Given the description of an element on the screen output the (x, y) to click on. 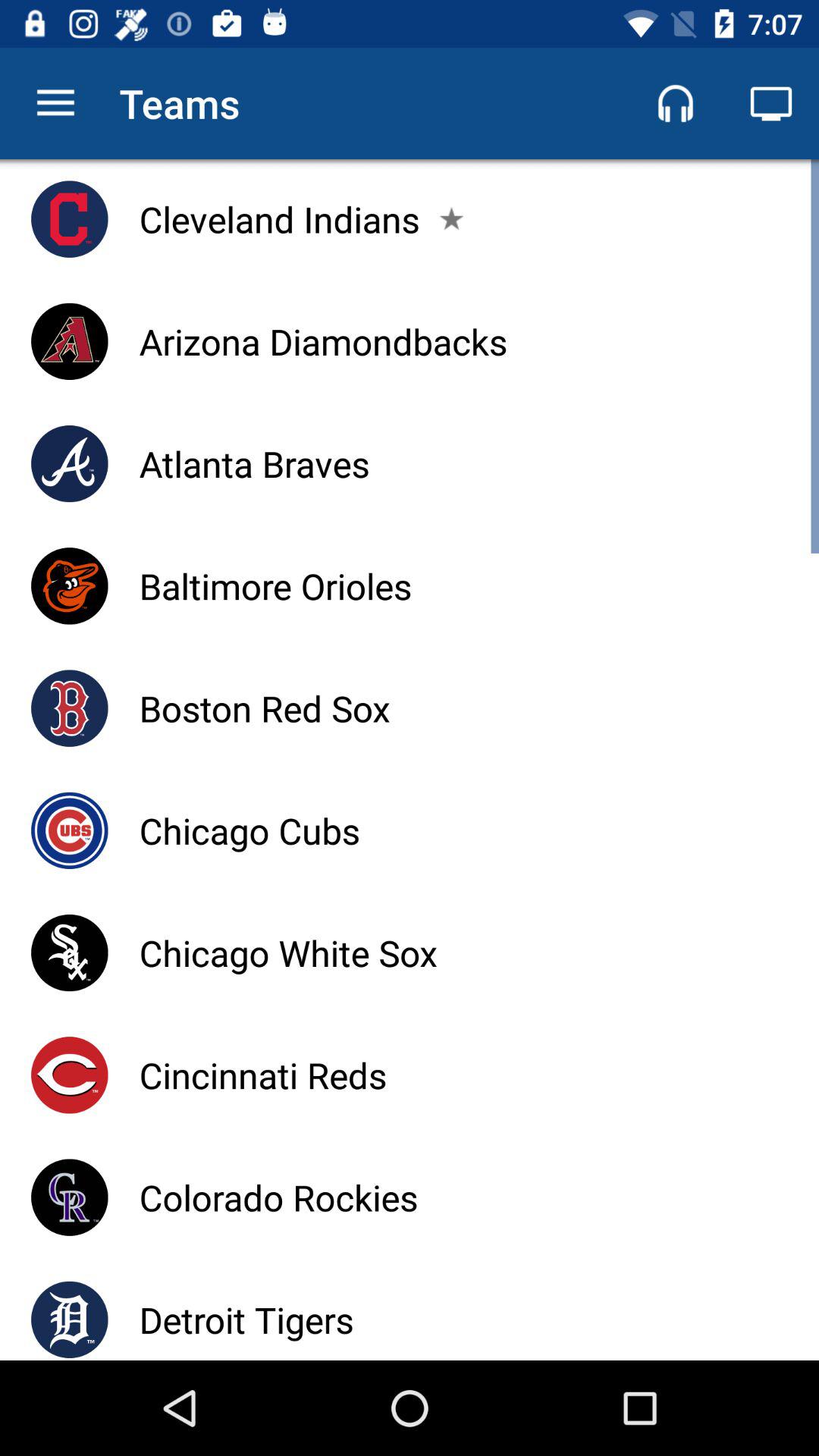
scroll until cincinnati reds icon (262, 1075)
